Given the description of an element on the screen output the (x, y) to click on. 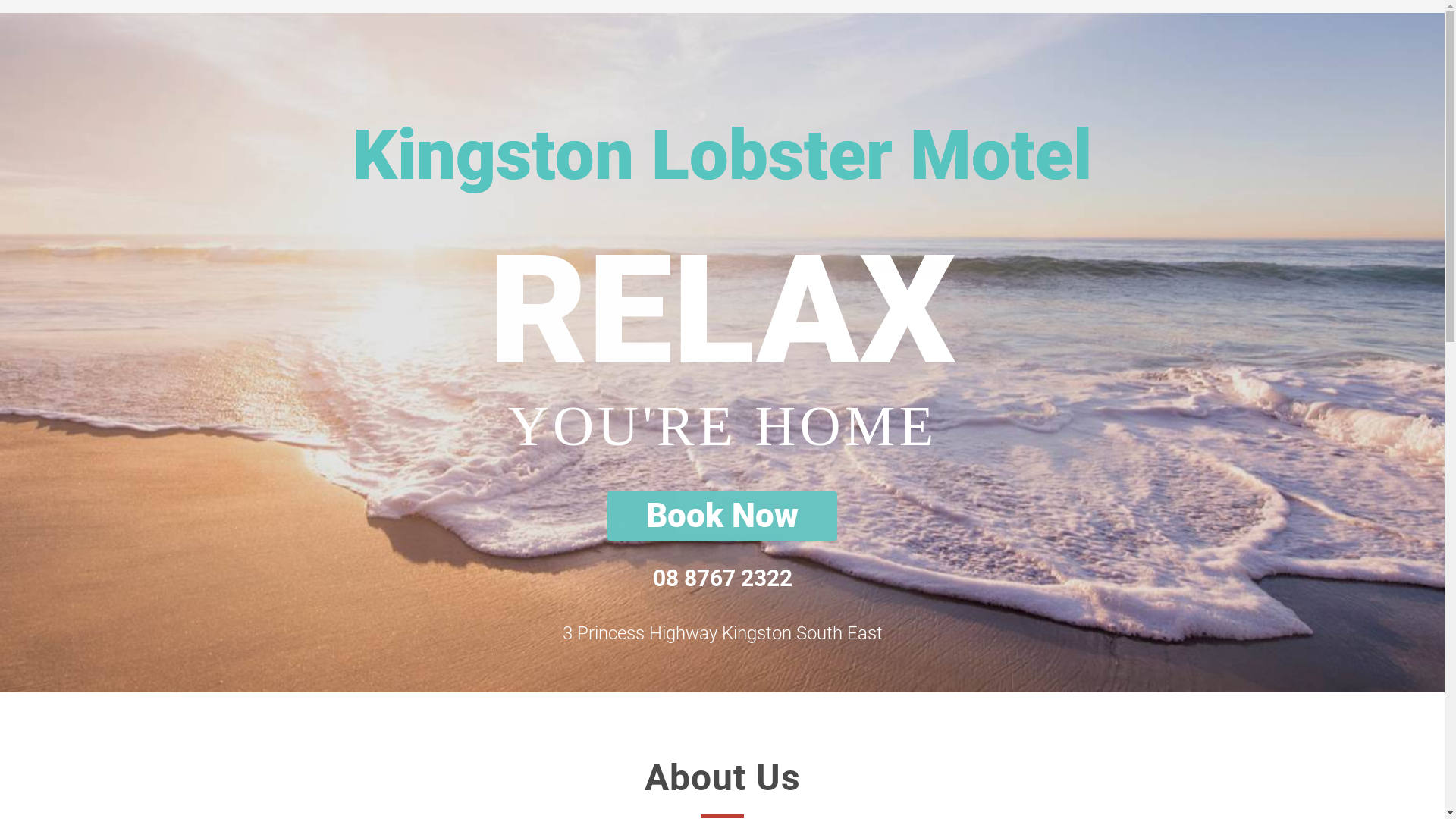
08 8767 2322 Element type: text (721, 578)
Book Now Element type: text (722, 515)
